Given the description of an element on the screen output the (x, y) to click on. 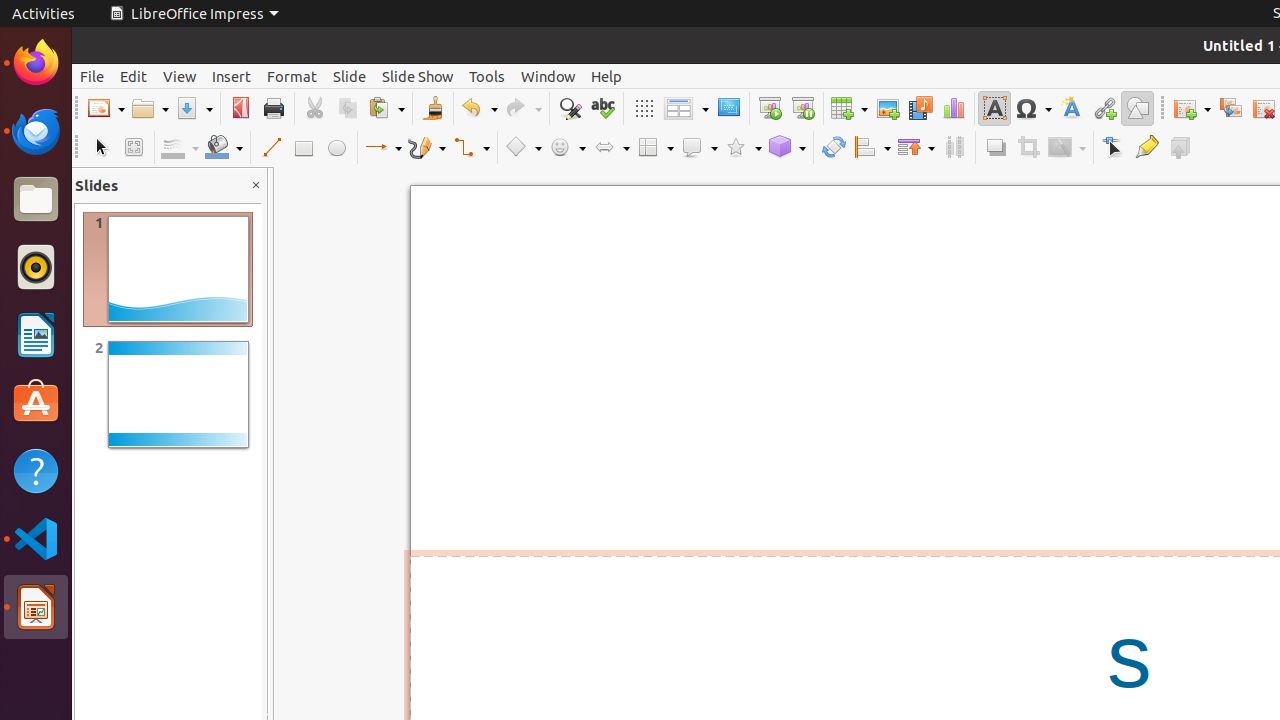
Copy Element type: push-button (347, 108)
Find & Replace Element type: toggle-button (569, 108)
